Given the description of an element on the screen output the (x, y) to click on. 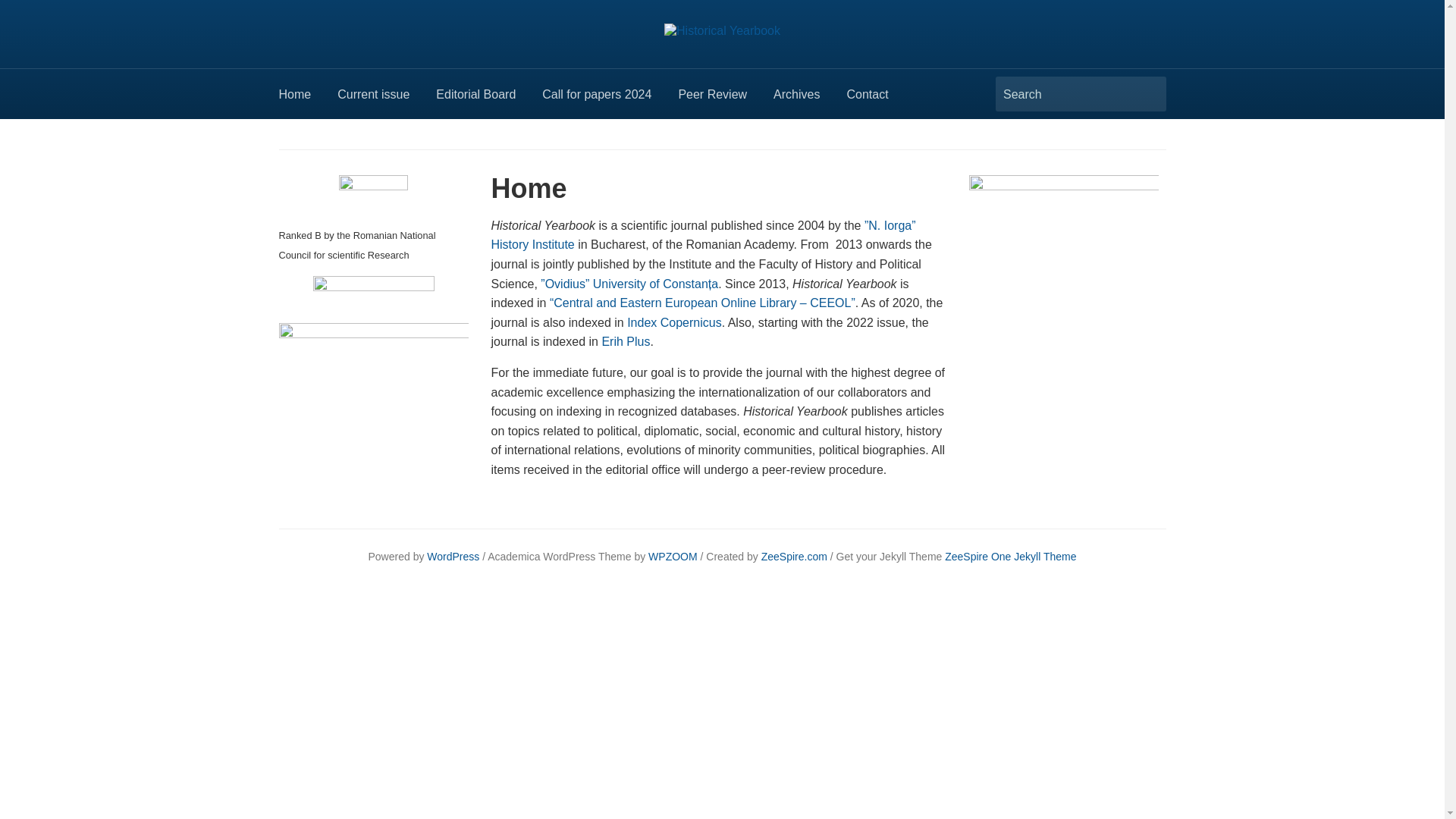
Editorial Board (488, 98)
WPZOOM (672, 556)
Archives (809, 98)
Call for papers 2024 (609, 98)
Contact (879, 98)
Erih Plus (625, 341)
WordPress (452, 556)
Home (308, 98)
ZeeSpire.com (792, 556)
Index Copernicus (674, 322)
